Given the description of an element on the screen output the (x, y) to click on. 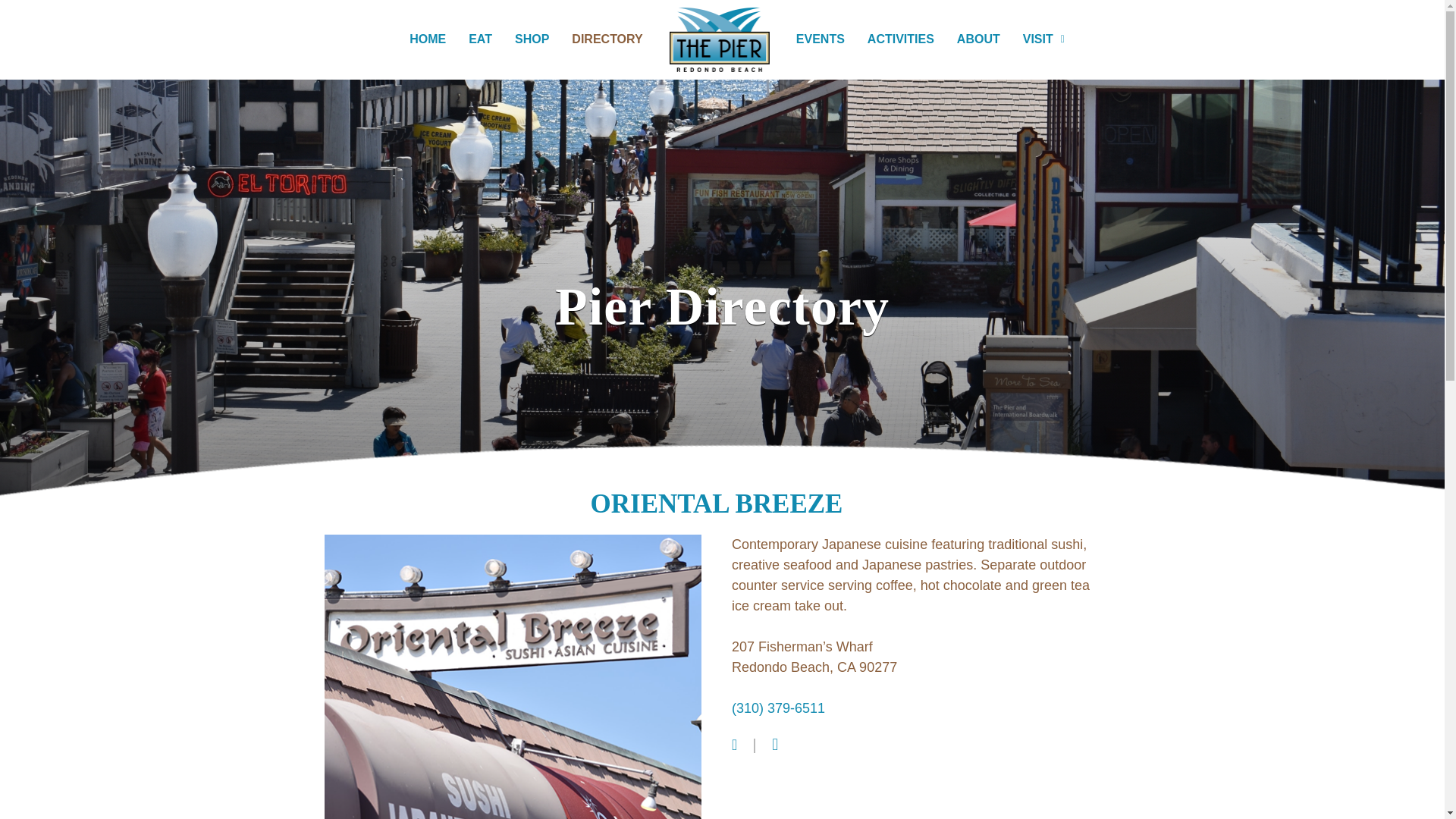
EVENTS (820, 39)
ACTIVITIES (900, 39)
ABOUT (977, 39)
DIRECTORY (606, 39)
HOME (427, 39)
SHOP (531, 39)
EAT (480, 39)
VISIT (1043, 39)
